Given the description of an element on the screen output the (x, y) to click on. 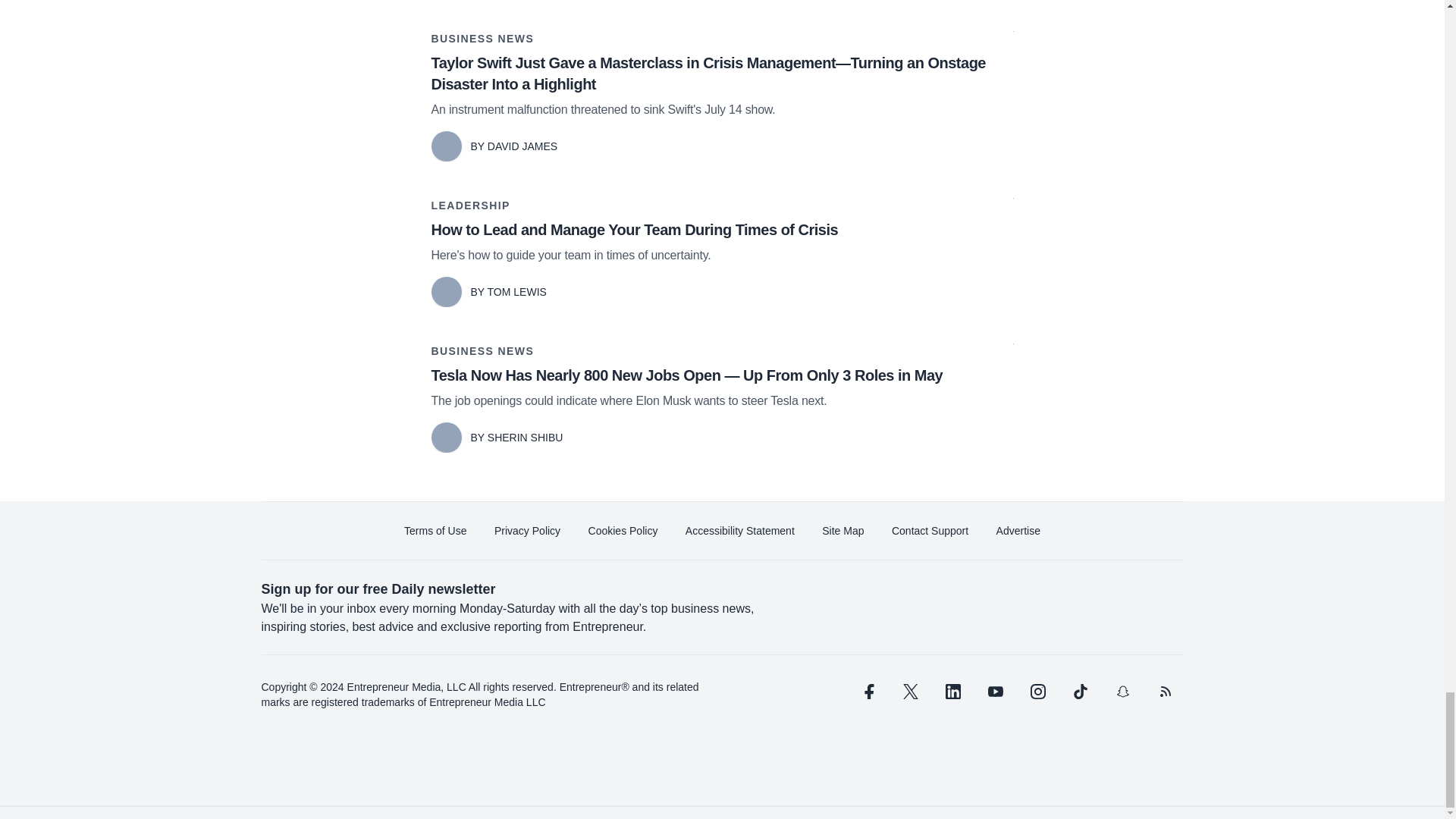
tiktok (1079, 691)
linkedin (952, 691)
youtube (994, 691)
facebook (866, 691)
instagram (1037, 691)
twitter (909, 691)
snapchat (1121, 691)
